Given the description of an element on the screen output the (x, y) to click on. 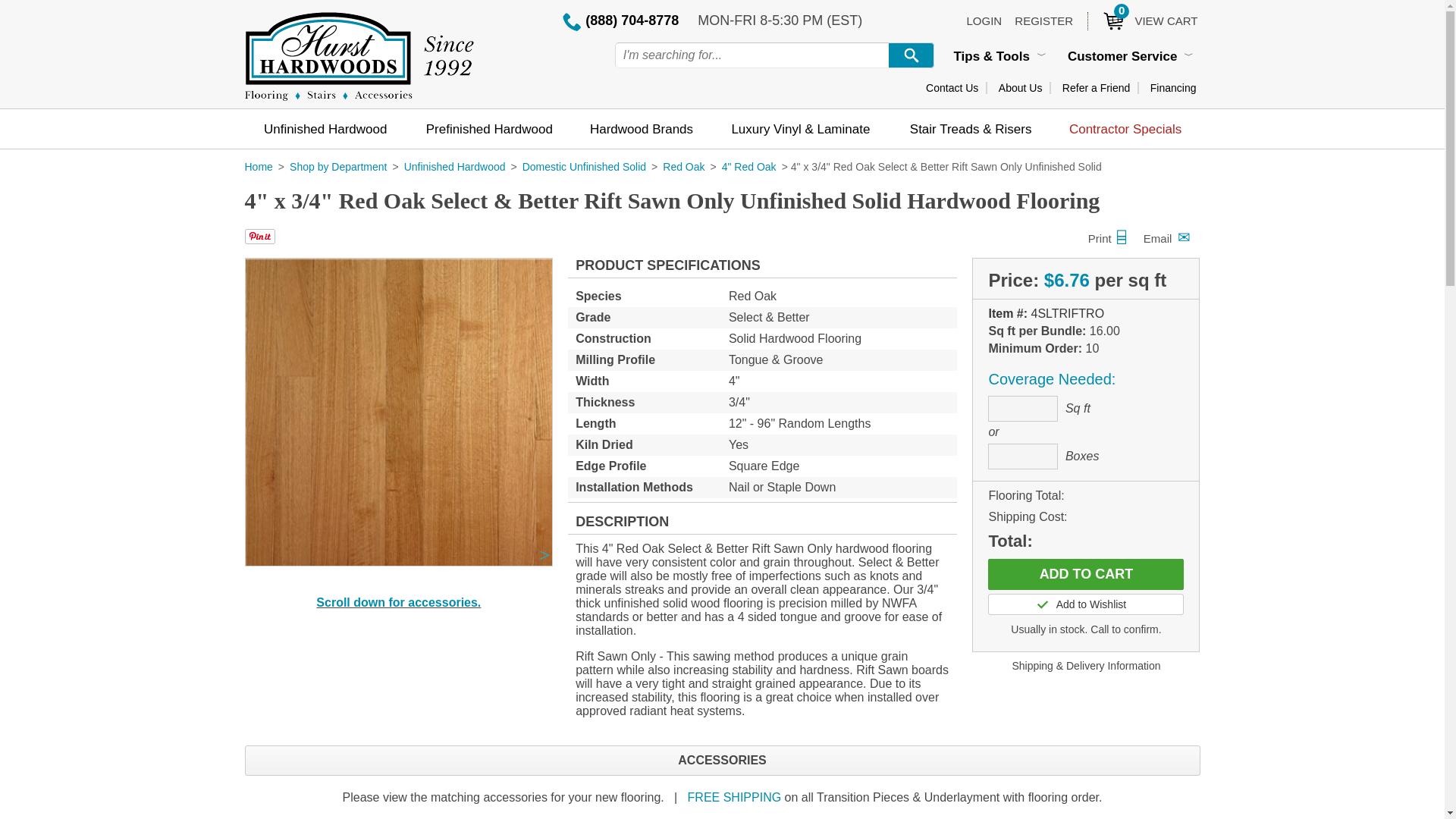
Refer a Friend (1095, 87)
Add to Cart (1141, 20)
LOGIN (1085, 573)
Unfinished Hardwood (983, 20)
REGISTER (325, 128)
About Us (1043, 20)
Add to Wishlist (1020, 87)
Financing (1085, 604)
Contact Us (1173, 87)
